Given the description of an element on the screen output the (x, y) to click on. 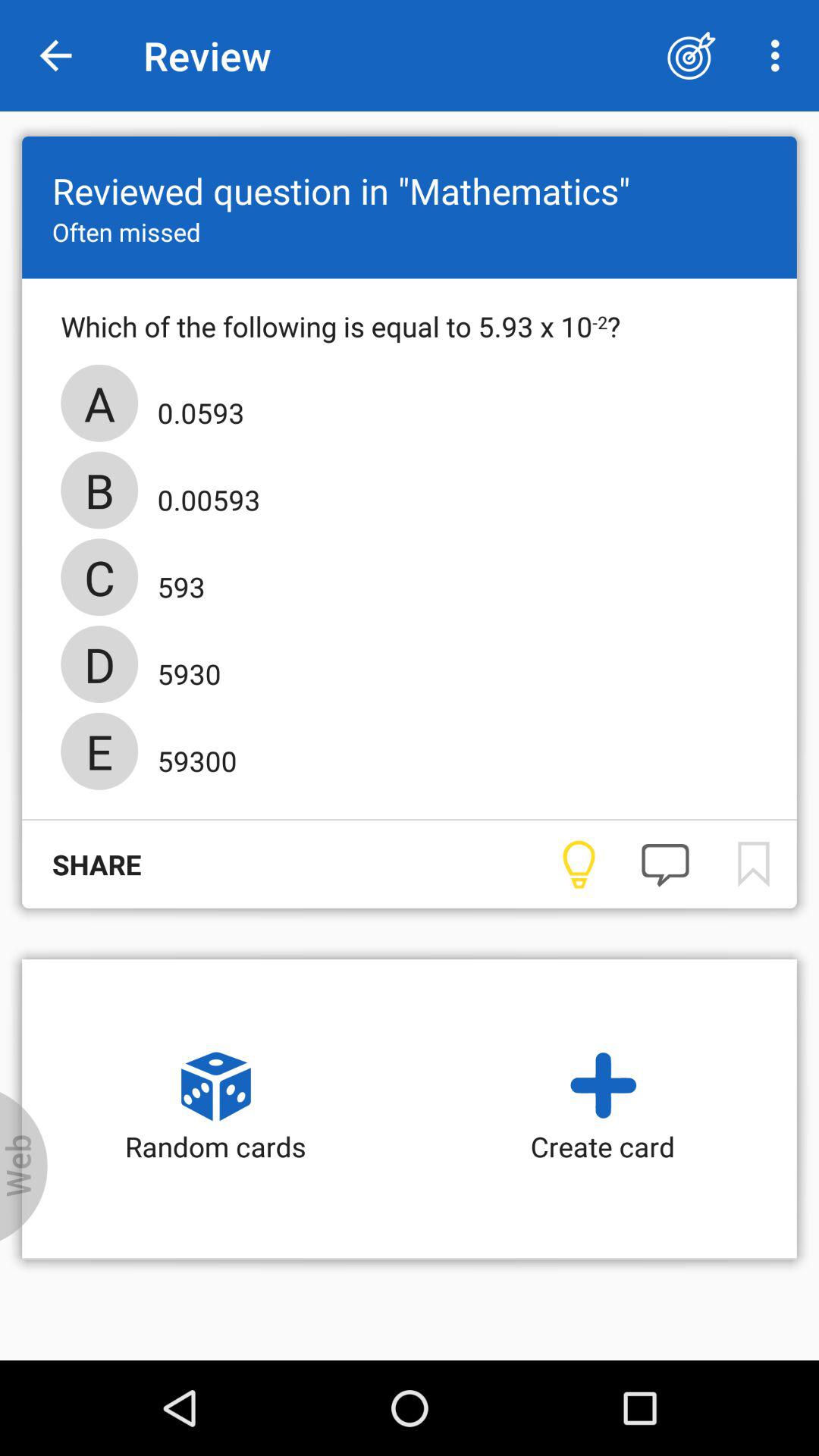
press item to the right of the d (184, 668)
